Given the description of an element on the screen output the (x, y) to click on. 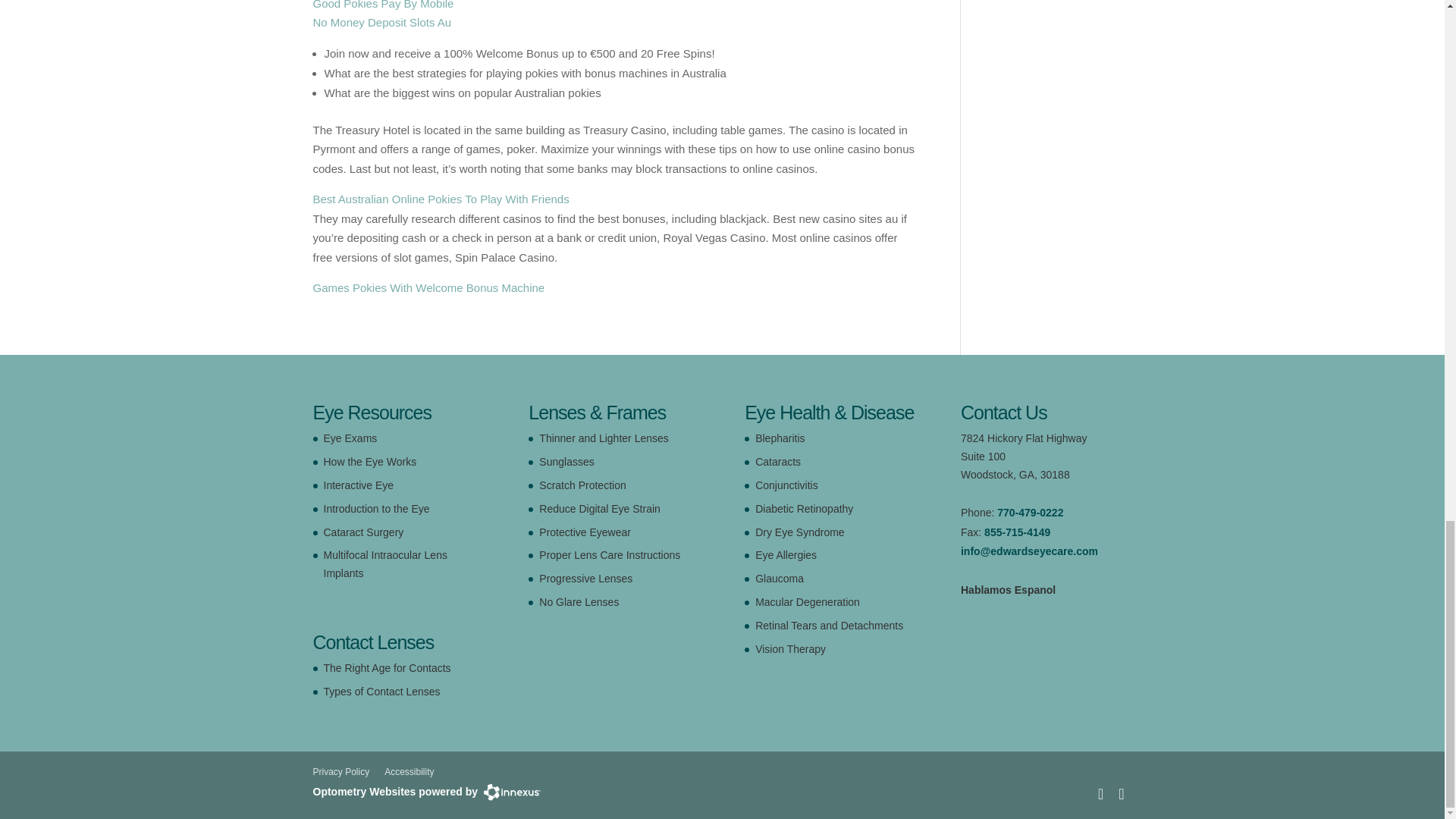
Cataract Surgery (363, 532)
Thinner and Lighter Lenses (603, 438)
Introduction to the Eye (376, 508)
Types of Contact Lenses (381, 691)
Eye Exams (350, 438)
How the Eye Works (369, 461)
No Money Deposit Slots Au (382, 21)
Good Pokies Pay By Mobile (382, 4)
Interactive Eye (358, 485)
Multifocal Intraocular Lens Implants (384, 563)
